Given the description of an element on the screen output the (x, y) to click on. 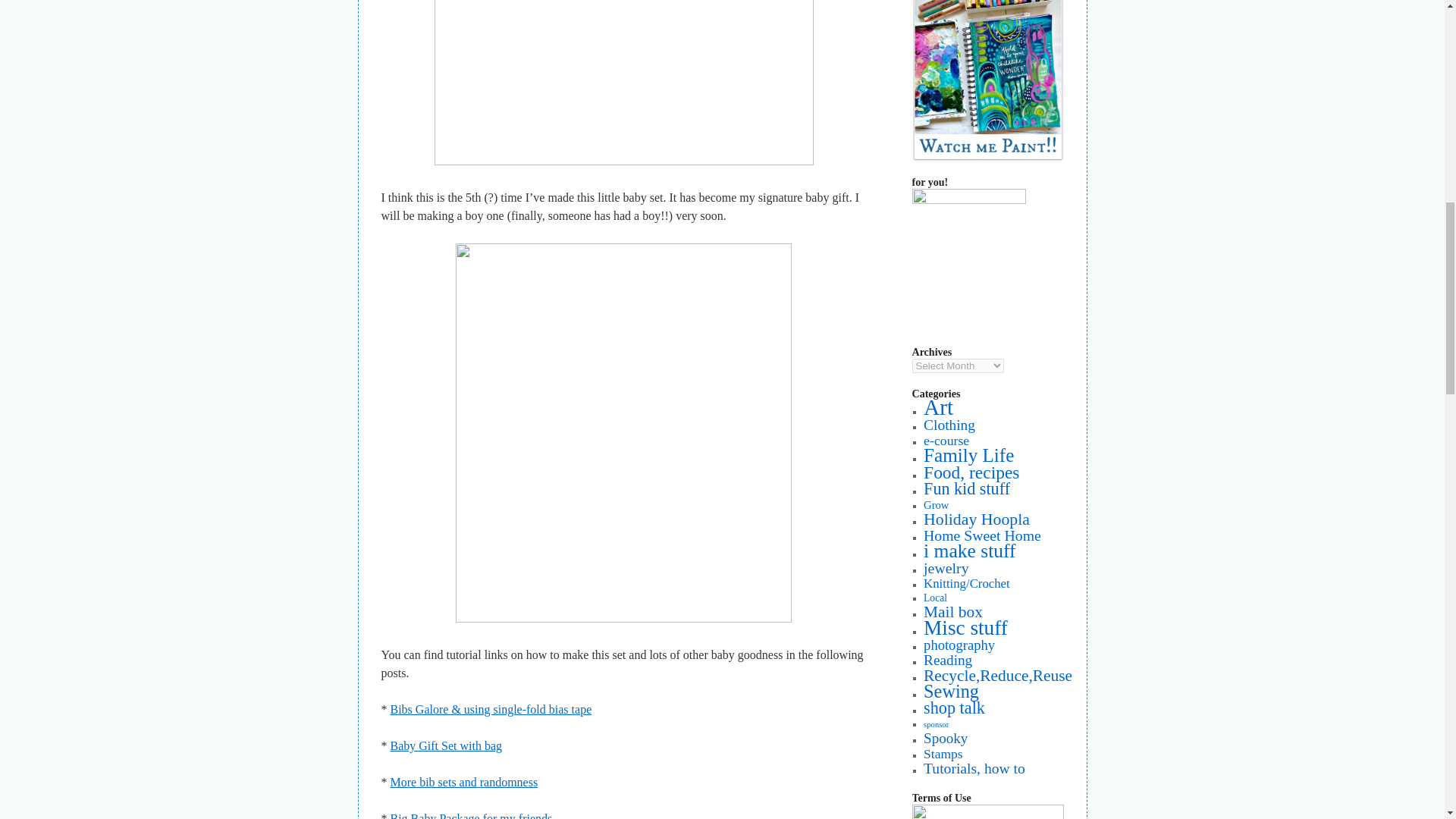
Permanent Link: Big Baby Package for my friends (469, 815)
Baby Gift Set with bag (446, 745)
Permanent Link: More bib sets and randomness (463, 781)
Permanent Link: Baby Gift Set with bag (446, 745)
More bib sets and randomness (463, 781)
Big Baby Package for my friends (469, 815)
